Given the description of an element on the screen output the (x, y) to click on. 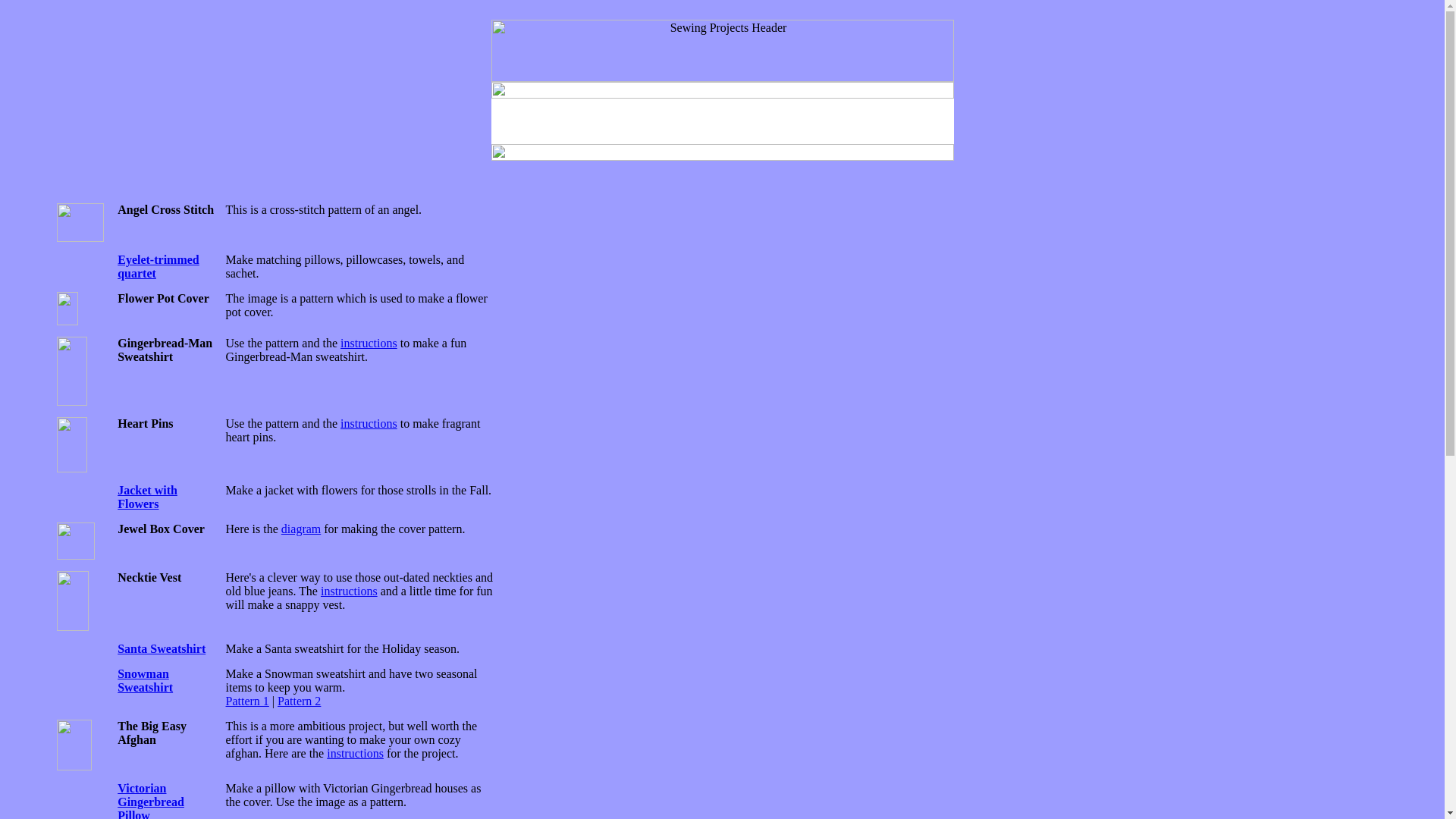
Pattern 2 (299, 700)
Santa Sweatshirt (161, 648)
Pattern 1 (247, 700)
instructions (348, 590)
diagram (300, 528)
Snowman Sweatshirt (145, 680)
Victorian Gingerbread Pillow (150, 800)
Jacket with Flowers (147, 497)
instructions (368, 342)
instructions (355, 753)
instructions (368, 422)
